Given the description of an element on the screen output the (x, y) to click on. 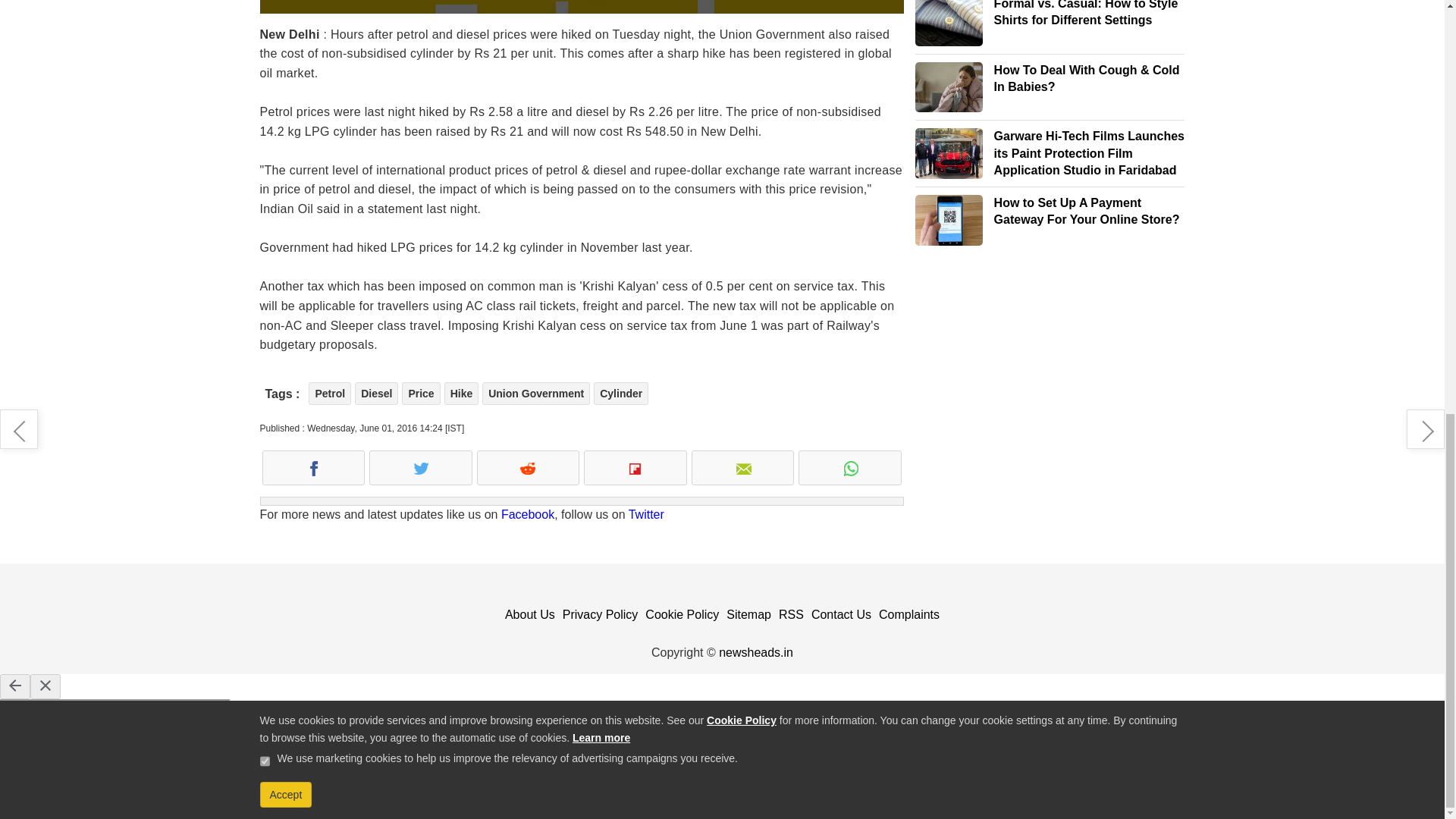
How to Set Up A Payment Gateway For Your Online Store? (948, 219)
Cylinder (620, 393)
Petrol (329, 393)
Union Government (535, 393)
Price (420, 393)
Diesel (376, 393)
Hike (461, 393)
